Given the description of an element on the screen output the (x, y) to click on. 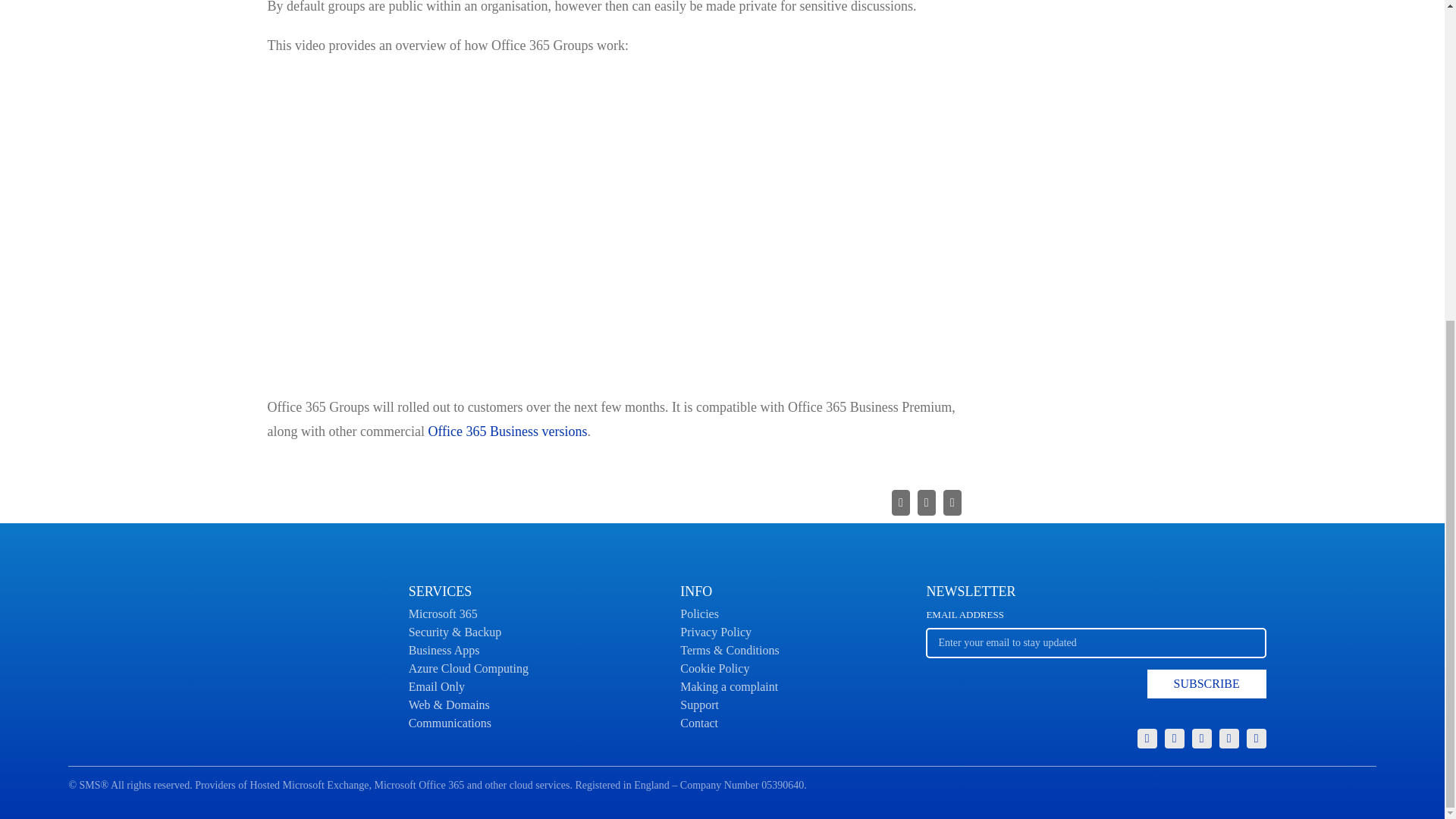
YouTube (1256, 738)
X (1174, 738)
Facebook (1201, 738)
LinkedIn (1229, 738)
Rss (1095, 658)
Group-2434 - SMS (1147, 738)
